Given the description of an element on the screen output the (x, y) to click on. 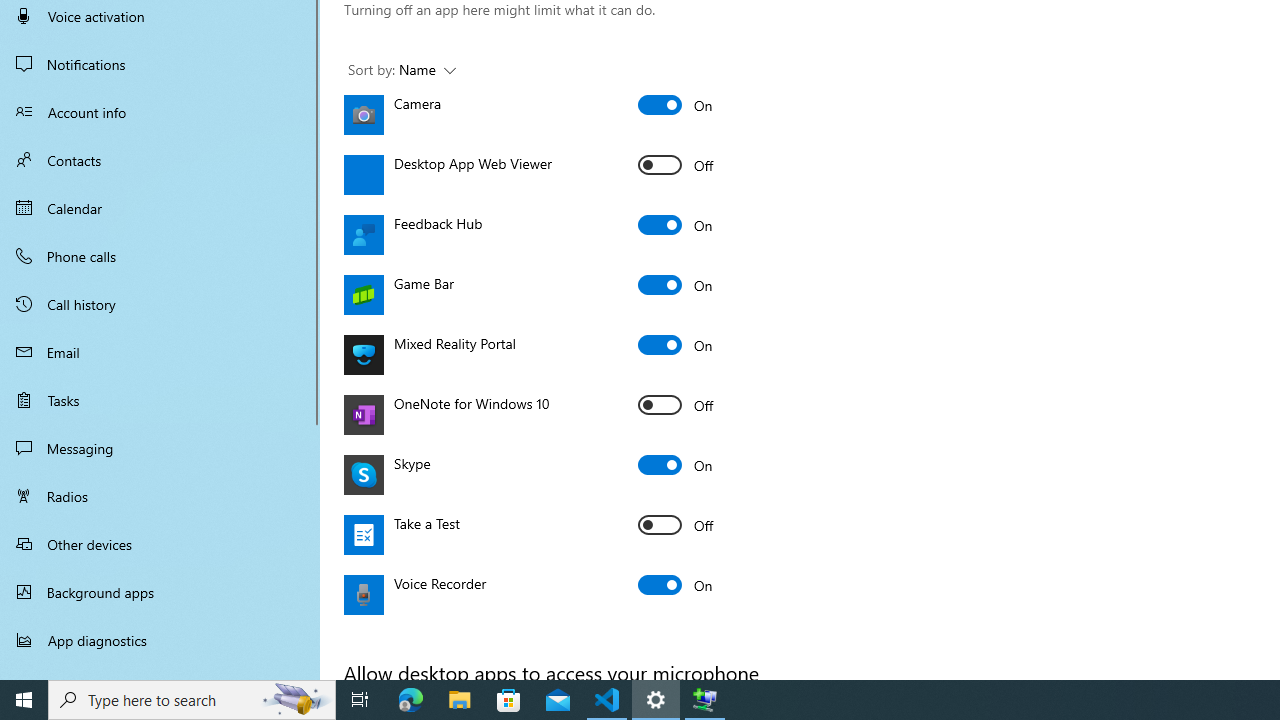
Feedback Hub (675, 224)
Sort by: Name (401, 70)
Other devices (160, 543)
Notifications (160, 63)
Background apps (160, 592)
Voice Recorder (675, 584)
Camera (675, 104)
Mixed Reality Portal (675, 344)
Extensible Wizards Host Process - 1 running window (704, 699)
Contacts (160, 160)
